Given the description of an element on the screen output the (x, y) to click on. 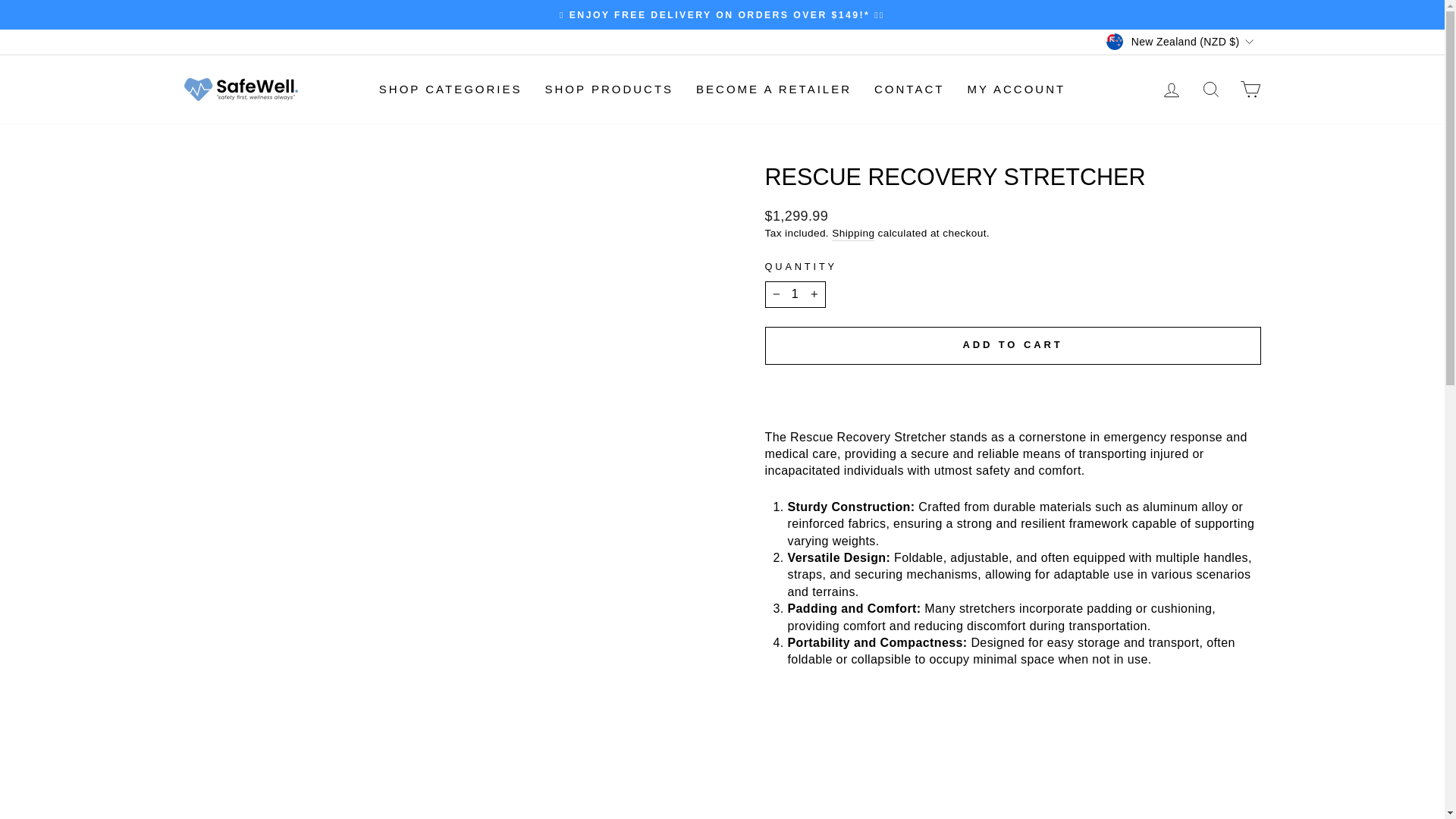
1 (794, 294)
